Given the description of an element on the screen output the (x, y) to click on. 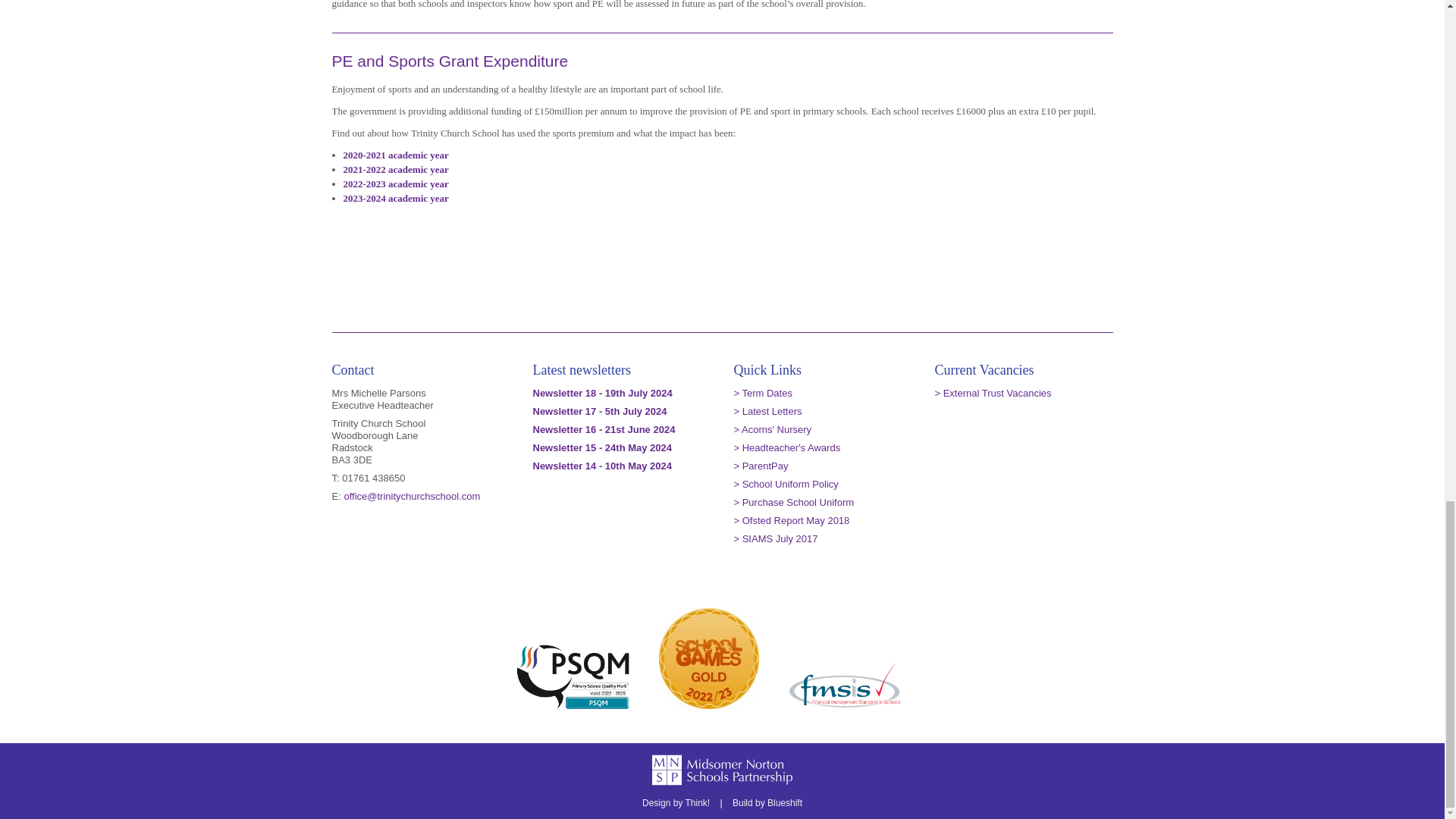
PSQM (573, 675)
School Games Gold 2022 - 23 (708, 658)
FMSIS (844, 684)
Evidencing the Impact of Primary PE and Sports Premium 20-21 (395, 154)
